Given the description of an element on the screen output the (x, y) to click on. 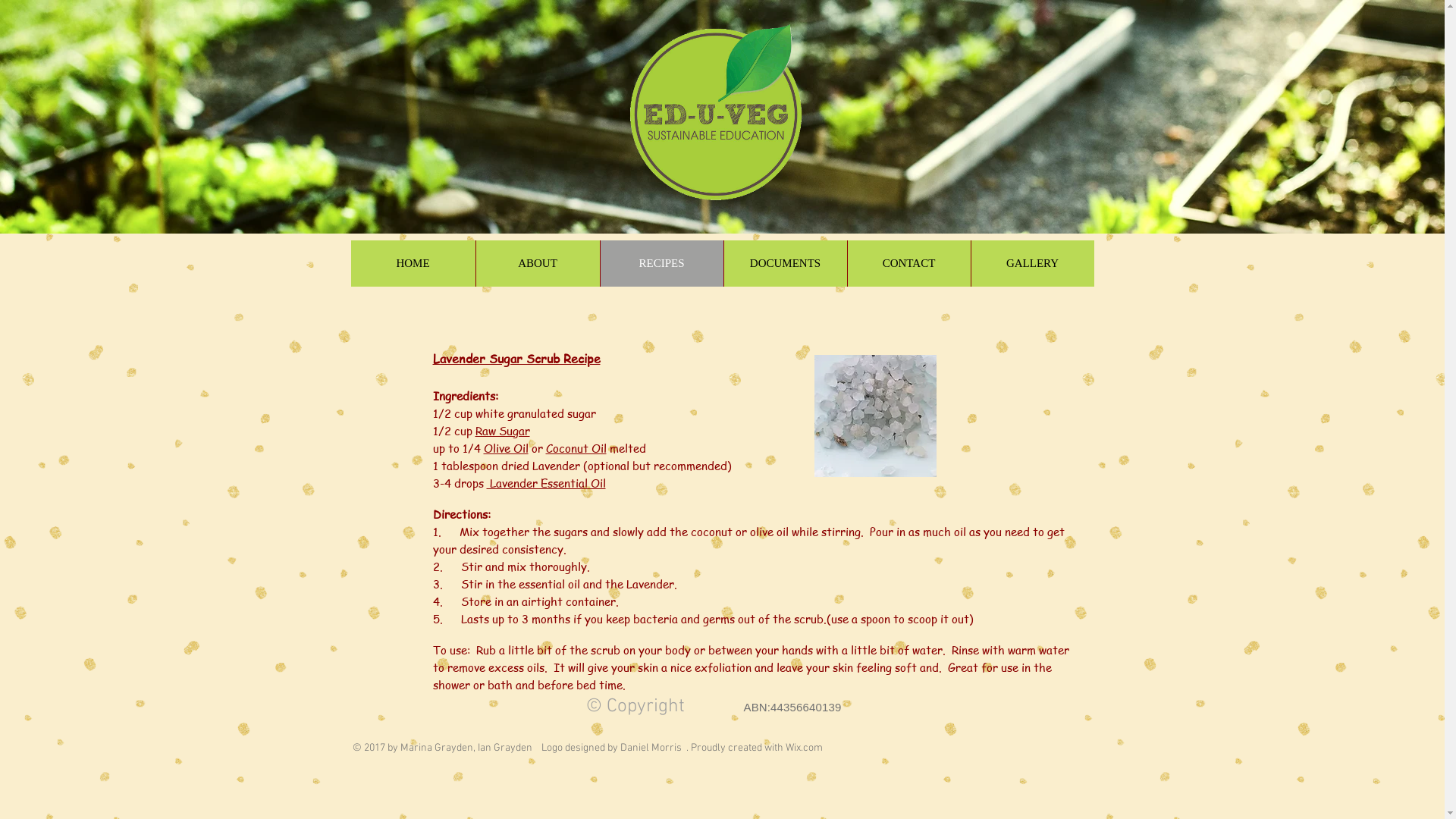
CONTACT Element type: text (907, 263)
 Lavender Essential Oil Element type: text (545, 482)
RECIPES Element type: text (660, 263)
Raw Sugar Element type: text (501, 430)
Coconut Oil Element type: text (576, 447)
ABOUT Element type: text (536, 263)
Olive Oil Element type: text (505, 447)
Wix.com Element type: text (803, 747)
HOME Element type: text (412, 263)
DOCUMENTS Element type: text (785, 263)
GALLERY Element type: text (1032, 263)
